Given the description of an element on the screen output the (x, y) to click on. 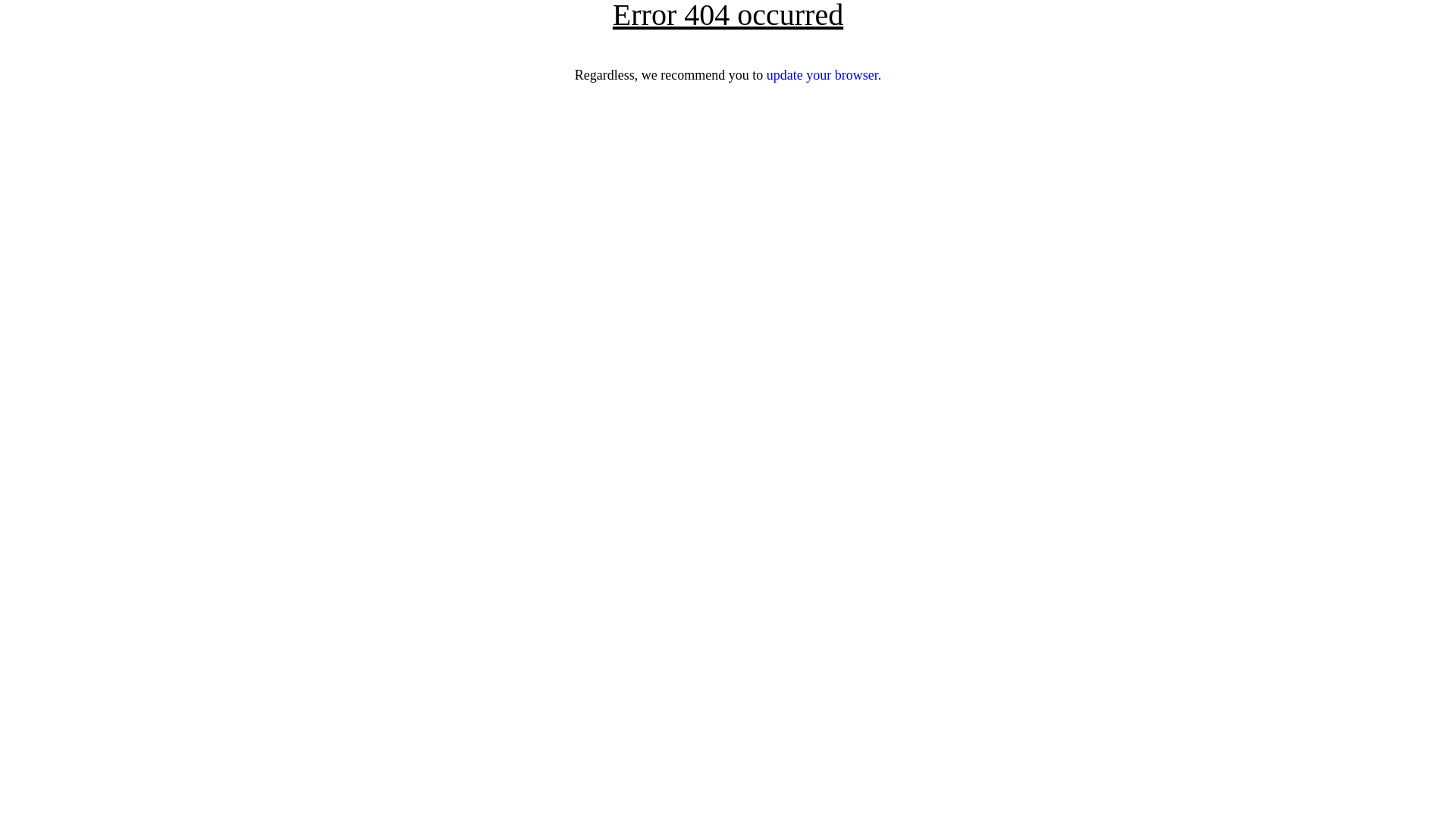
update your browser. Element type: text (823, 74)
